Given the description of an element on the screen output the (x, y) to click on. 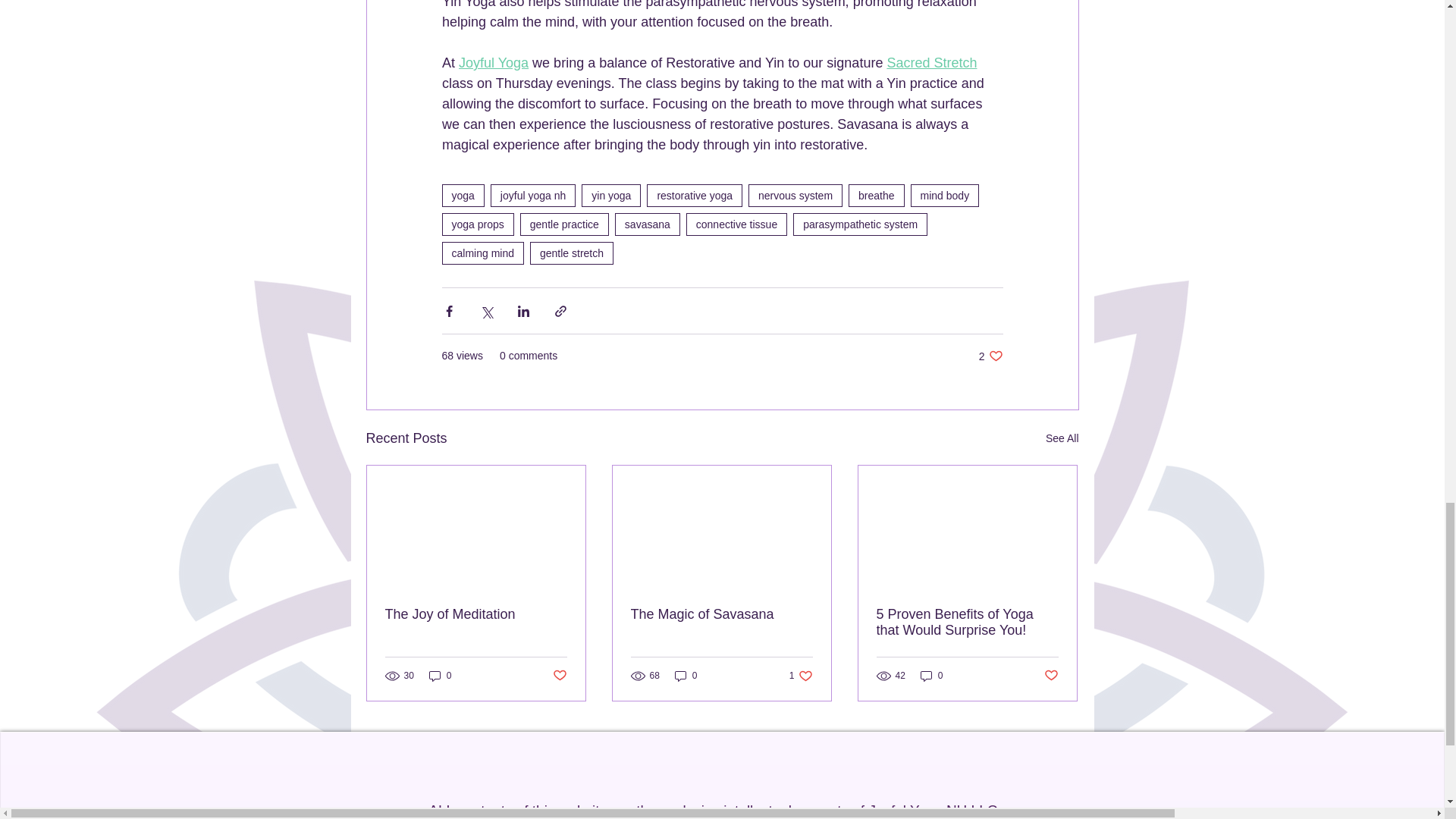
parasympathetic system (860, 223)
savasana (646, 223)
Joyful Yoga (493, 62)
yoga props (477, 223)
nervous system (795, 195)
mind body (945, 195)
restorative yoga (694, 195)
joyful yoga nh (532, 195)
connective tissue (736, 223)
calming mind (481, 252)
yin yoga (610, 195)
breathe (876, 195)
gentle practice (563, 223)
gentle stretch (570, 252)
yoga (462, 195)
